Given the description of an element on the screen output the (x, y) to click on. 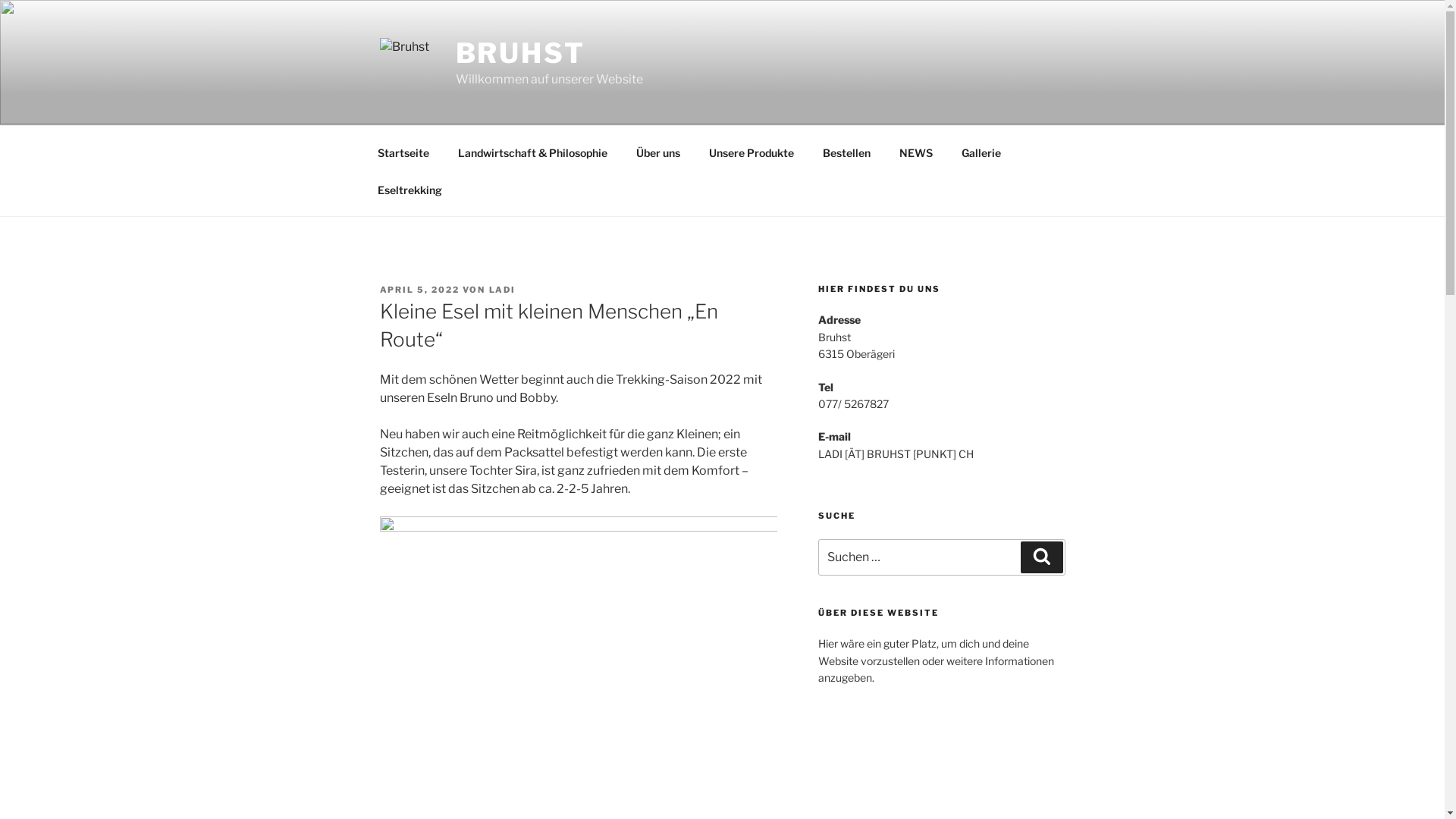
Bestellen Element type: text (846, 151)
LADI Element type: text (501, 289)
BRUHST Element type: text (519, 52)
Startseite Element type: text (403, 151)
Eseltrekking Element type: text (409, 189)
Unsere Produkte Element type: text (751, 151)
Gallerie Element type: text (980, 151)
Suchen Element type: text (1041, 557)
Landwirtschaft & Philosophie Element type: text (532, 151)
APRIL 5, 2022 Element type: text (419, 289)
NEWS Element type: text (915, 151)
